Given the description of an element on the screen output the (x, y) to click on. 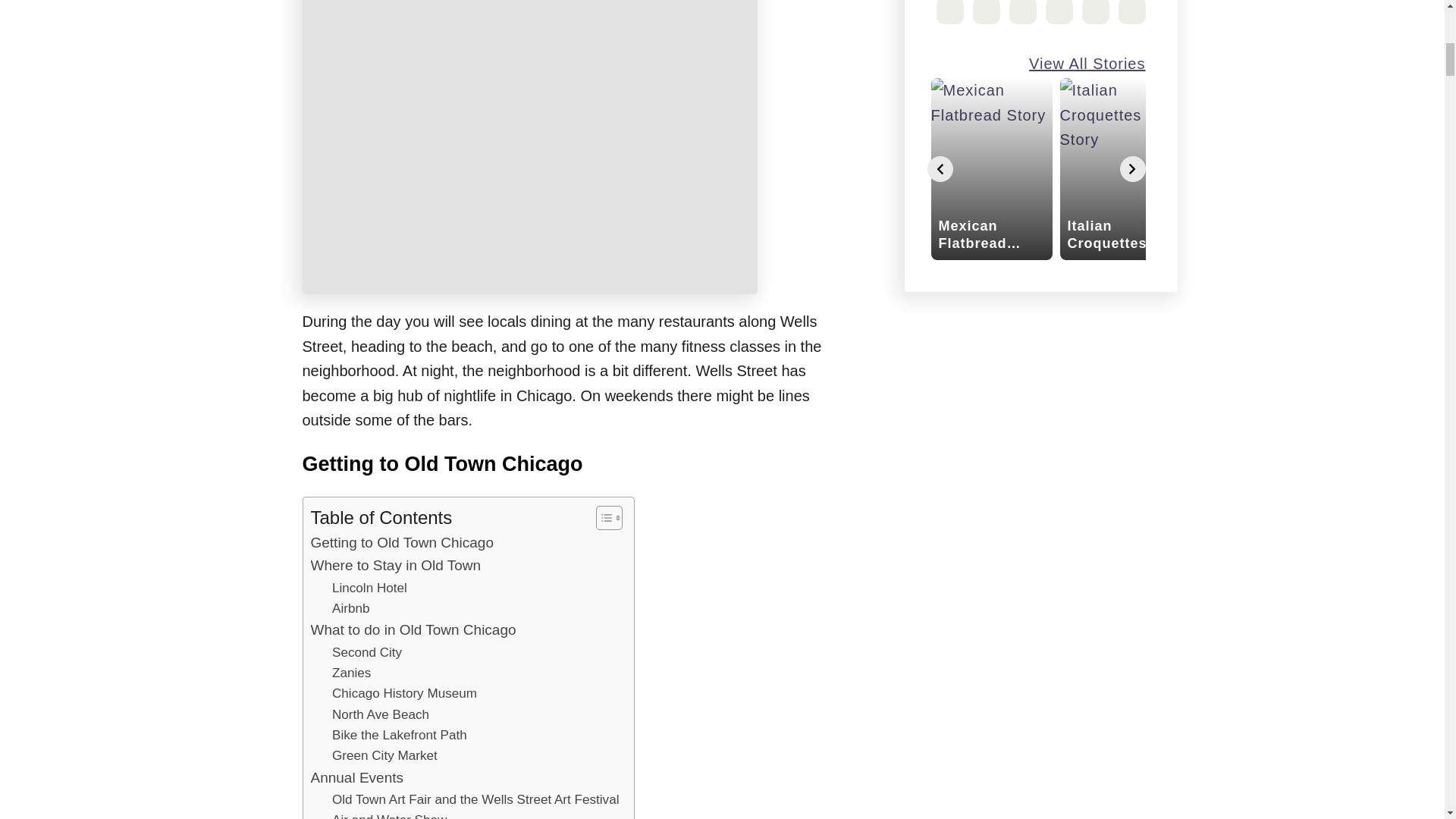
What to do in Old Town Chicago (413, 630)
Where to Stay in Old Town (396, 565)
Getting to Old Town Chicago (403, 542)
Airbnb (350, 608)
Second City (366, 652)
What to do in Old Town Chicago (413, 630)
Second City (366, 652)
Getting to Old Town Chicago (403, 542)
Airbnb (350, 608)
Zanies (351, 672)
Where to Stay in Old Town (396, 565)
Lincoln Hotel (369, 588)
Lincoln Hotel (369, 588)
